Given the description of an element on the screen output the (x, y) to click on. 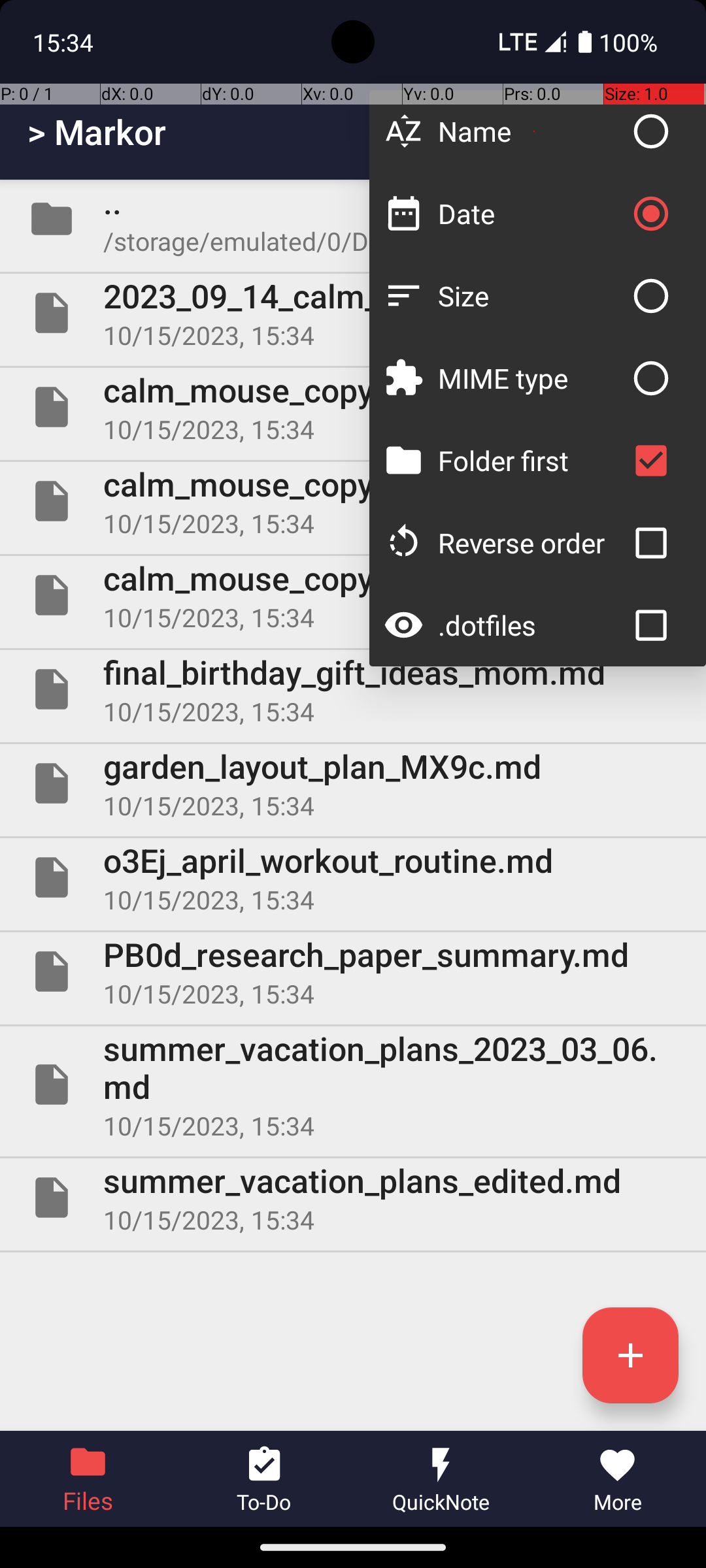
Size Element type: android.widget.TextView (530, 295)
MIME type Element type: android.widget.TextView (530, 377)
Folder first Element type: android.widget.TextView (530, 459)
Reverse order Element type: android.widget.TextView (530, 542)
.dotfiles Element type: android.widget.TextView (530, 624)
